Given the description of an element on the screen output the (x, y) to click on. 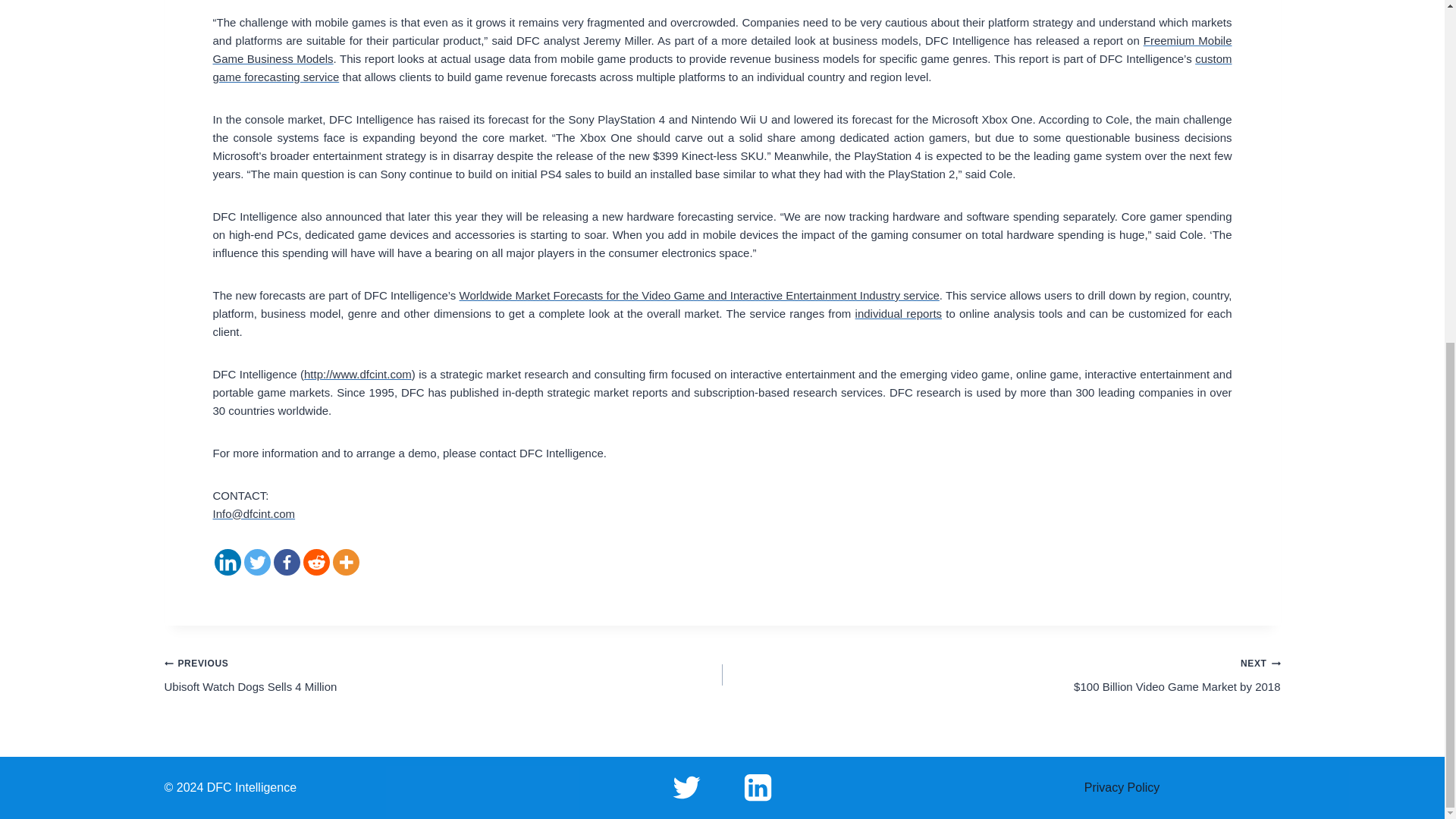
Freemium Mobile Game Business Models (721, 49)
Privacy Policy (1122, 787)
Facebook (286, 561)
More (344, 561)
Twitter (257, 561)
individual reports (899, 313)
Reddit (316, 561)
Linkedin (442, 674)
custom game forecasting service (227, 561)
